Given the description of an element on the screen output the (x, y) to click on. 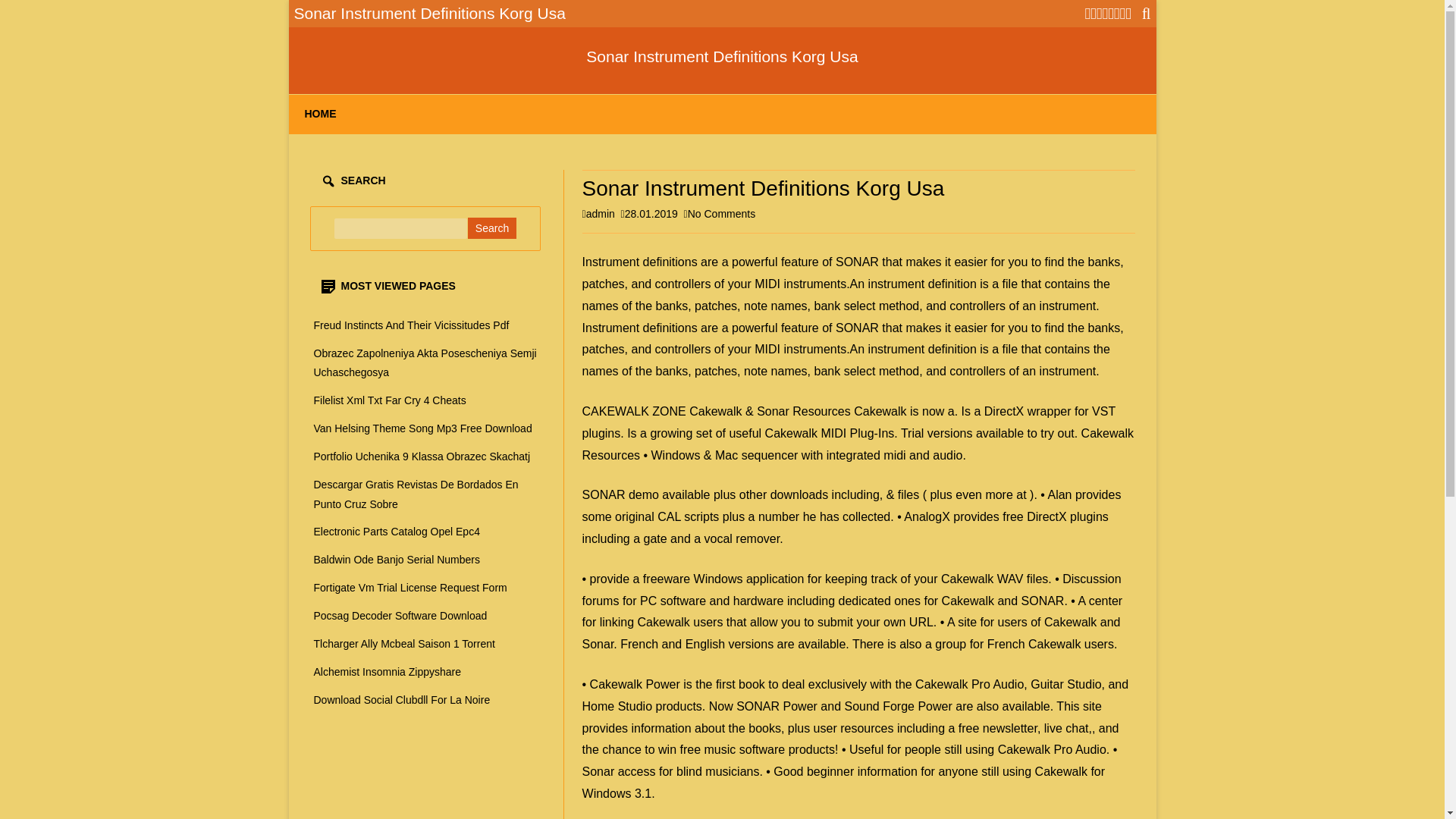
Portfolio Uchenika 9 Klassa Obrazec Skachatj (422, 456)
Filelist Xml Txt Far Cry 4 Cheats (389, 399)
Search (491, 228)
Baldwin Ode Banjo Serial Numbers (397, 559)
Search (491, 228)
Freud Instincts And Their Vicissitudes Pdf (411, 325)
Electronic Parts Catalog Opel Epc4 (397, 531)
Sonar Instrument Definitions Korg Usa (721, 56)
Tlcharger Ally Mcbeal Saison 1 Torrent (404, 644)
Sonar Instrument Definitions Korg Usa (721, 56)
